Given the description of an element on the screen output the (x, y) to click on. 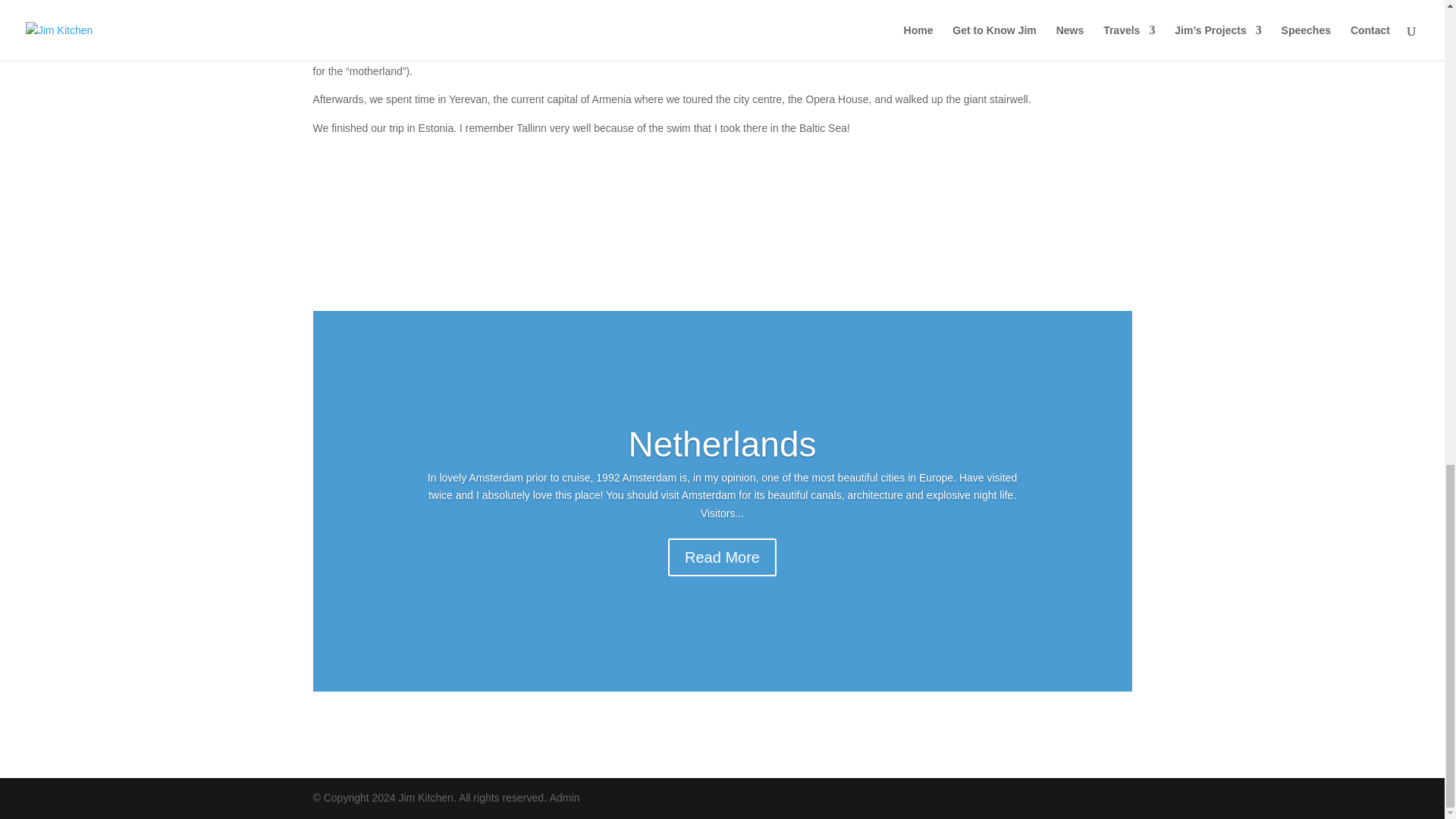
Netherlands (721, 444)
Read More (722, 557)
Admin (564, 797)
